Given the description of an element on the screen output the (x, y) to click on. 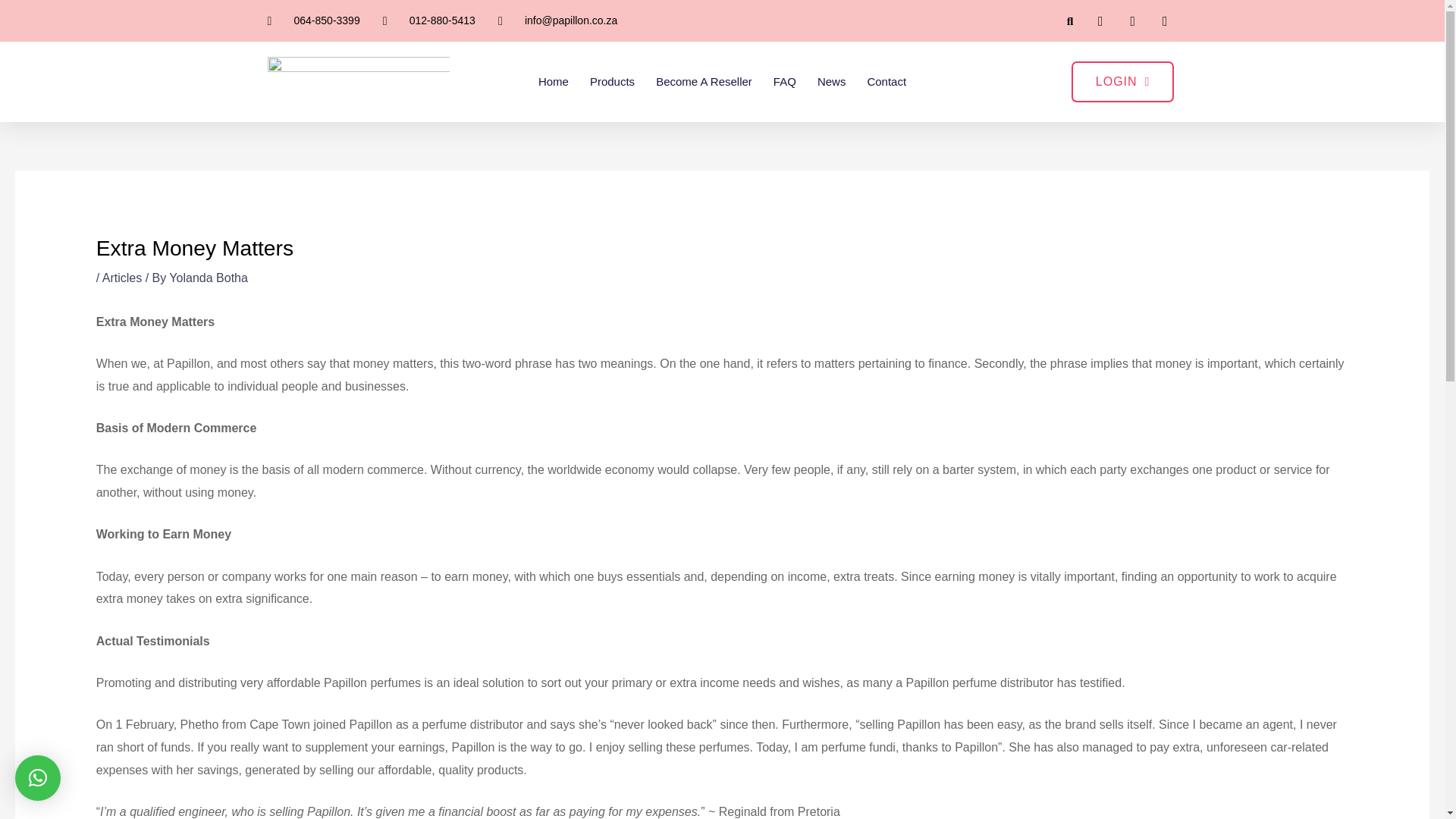
Articles (121, 277)
Become A Reseller (704, 81)
Products (611, 81)
Contact (885, 81)
LOGIN (1122, 81)
View all posts by Yolanda Botha (207, 277)
Yolanda Botha (207, 277)
